Given the description of an element on the screen output the (x, y) to click on. 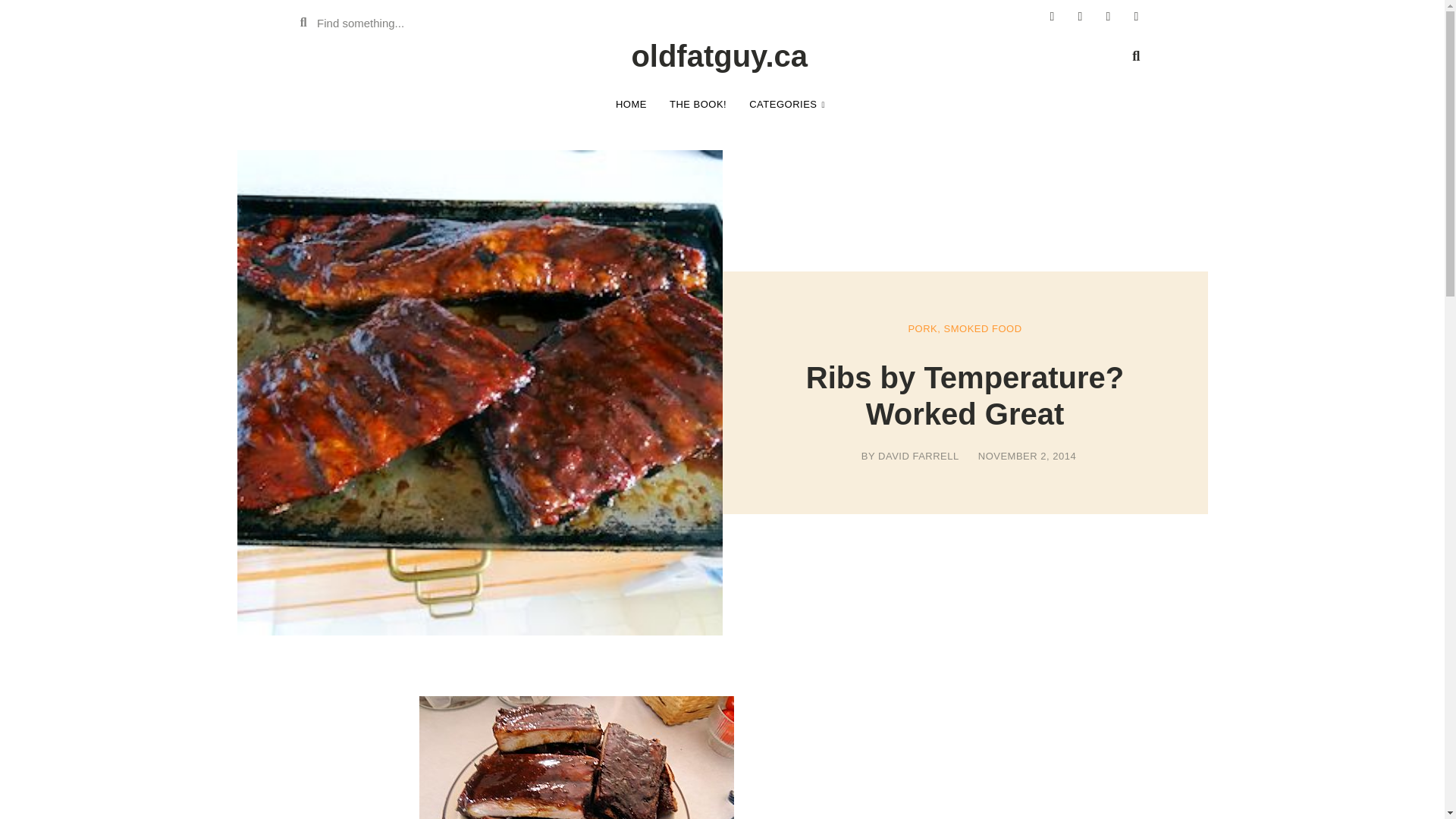
oldfatguy.ca (719, 55)
